Given the description of an element on the screen output the (x, y) to click on. 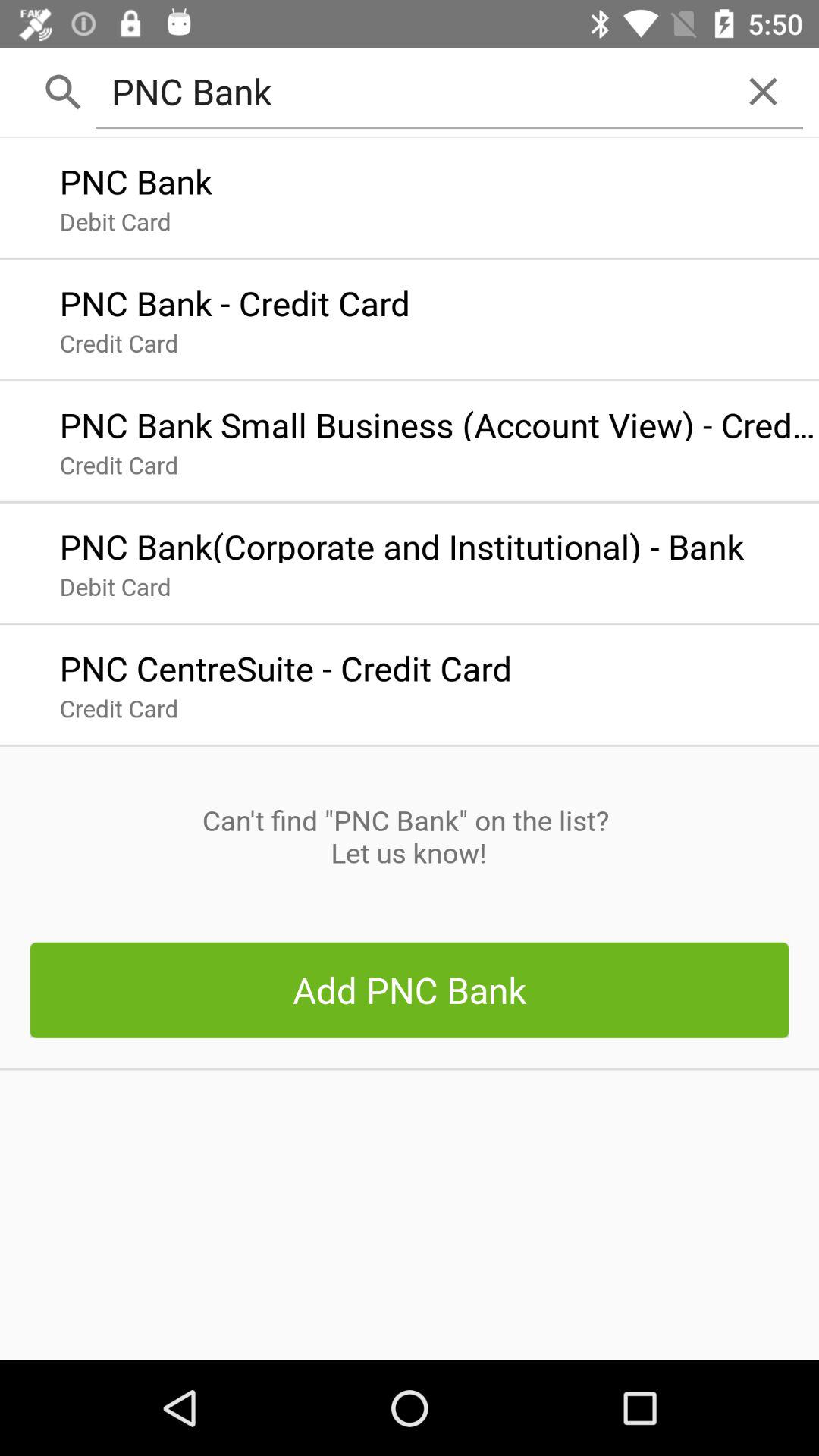
click icon next to the pnc bank icon (763, 91)
